Given the description of an element on the screen output the (x, y) to click on. 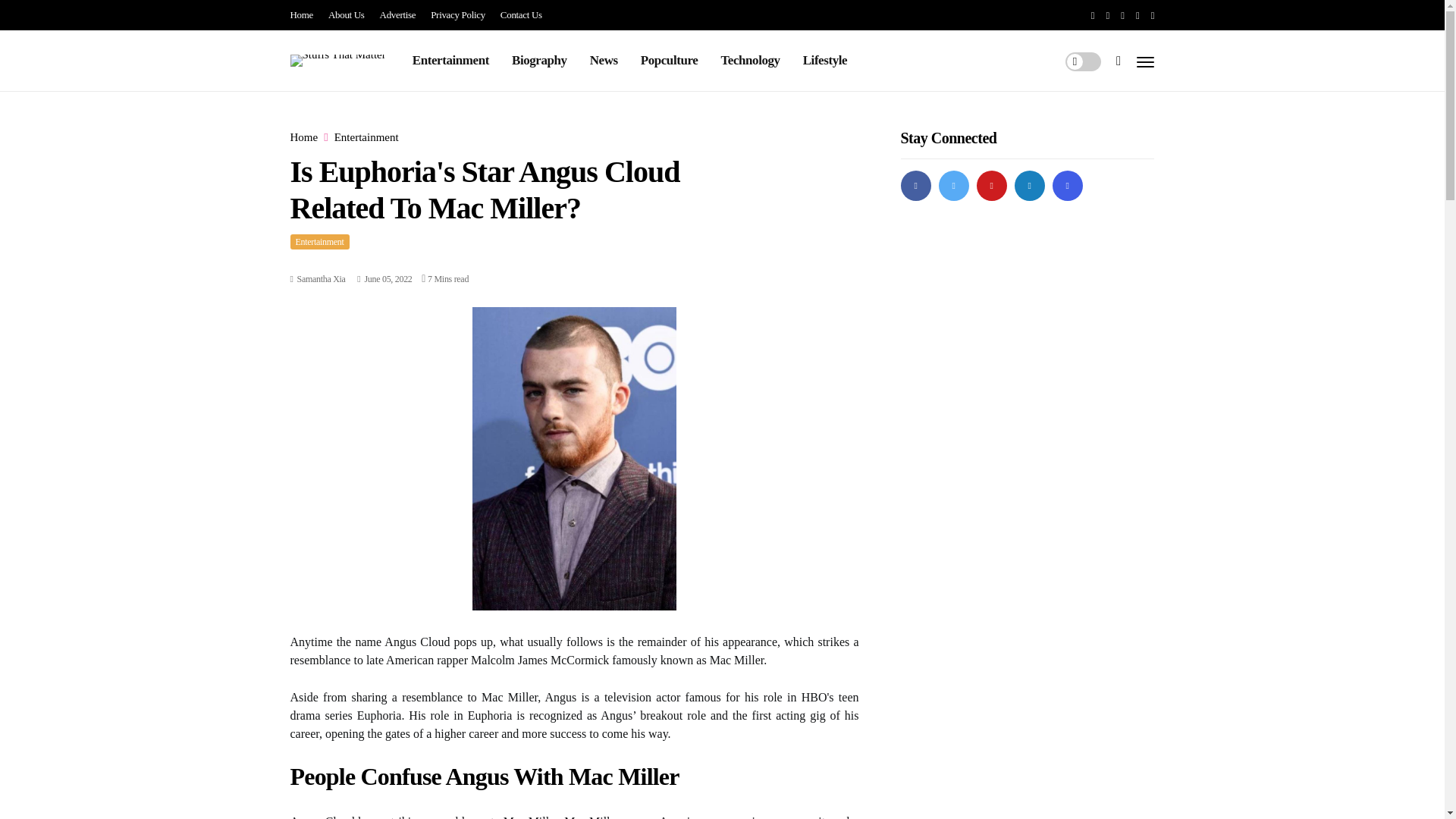
Privacy Policy (457, 15)
Contact Us (520, 15)
June 05, 2022 12:48 PM (384, 278)
Home (303, 137)
Biography (539, 60)
Entertainment (319, 240)
Technology (749, 60)
Advertise (398, 15)
Popculture (669, 60)
About Us (347, 15)
Posts by Samantha Xia (321, 278)
Samantha Xia (321, 278)
Entertainment (450, 60)
Entertainment (366, 137)
